Given the description of an element on the screen output the (x, y) to click on. 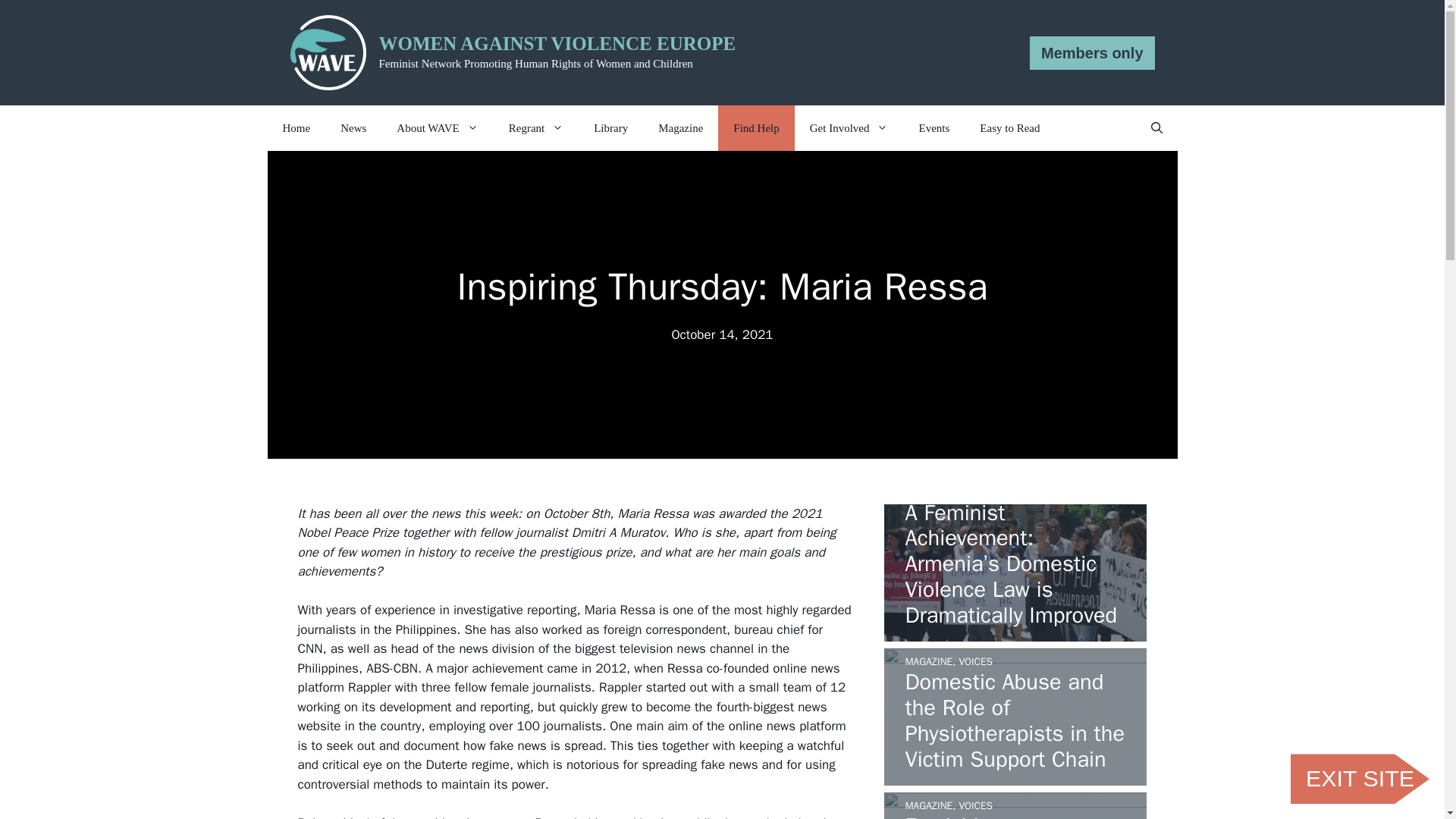
Easy to Read (1008, 127)
WOMEN AGAINST VIOLENCE EUROPE (557, 43)
Find Help (755, 127)
EXIT SITE (1359, 778)
Members only (1091, 52)
Library (610, 127)
Regrant (535, 127)
Events (932, 127)
Home (295, 127)
Magazine (680, 127)
News (352, 127)
Get Involved (849, 127)
About WAVE (437, 127)
